Given the description of an element on the screen output the (x, y) to click on. 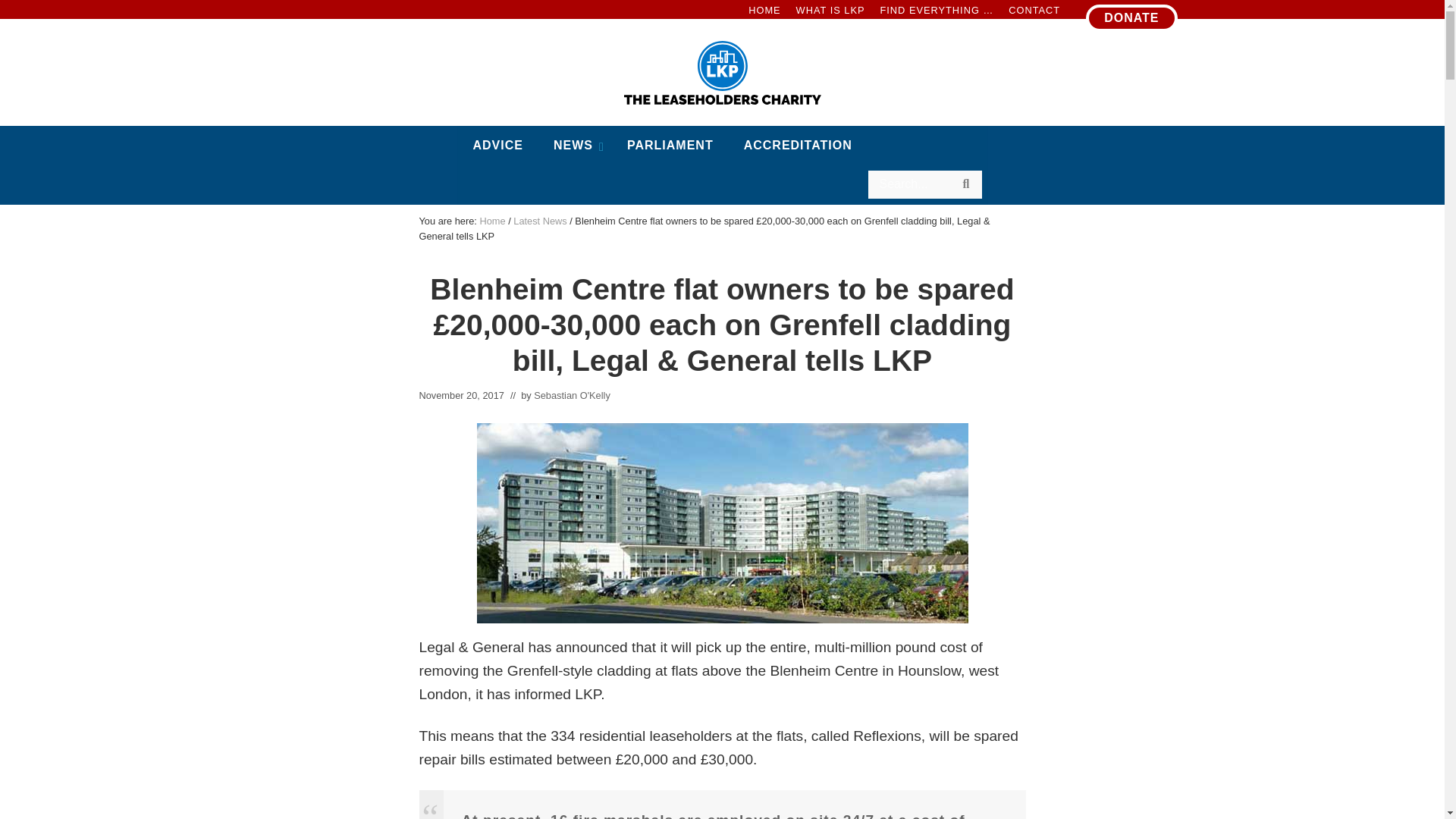
DONATE (722, 165)
CONTACT (1131, 17)
HOME (1034, 11)
WHAT IS LKP (764, 11)
Menu (830, 11)
